Given the description of an element on the screen output the (x, y) to click on. 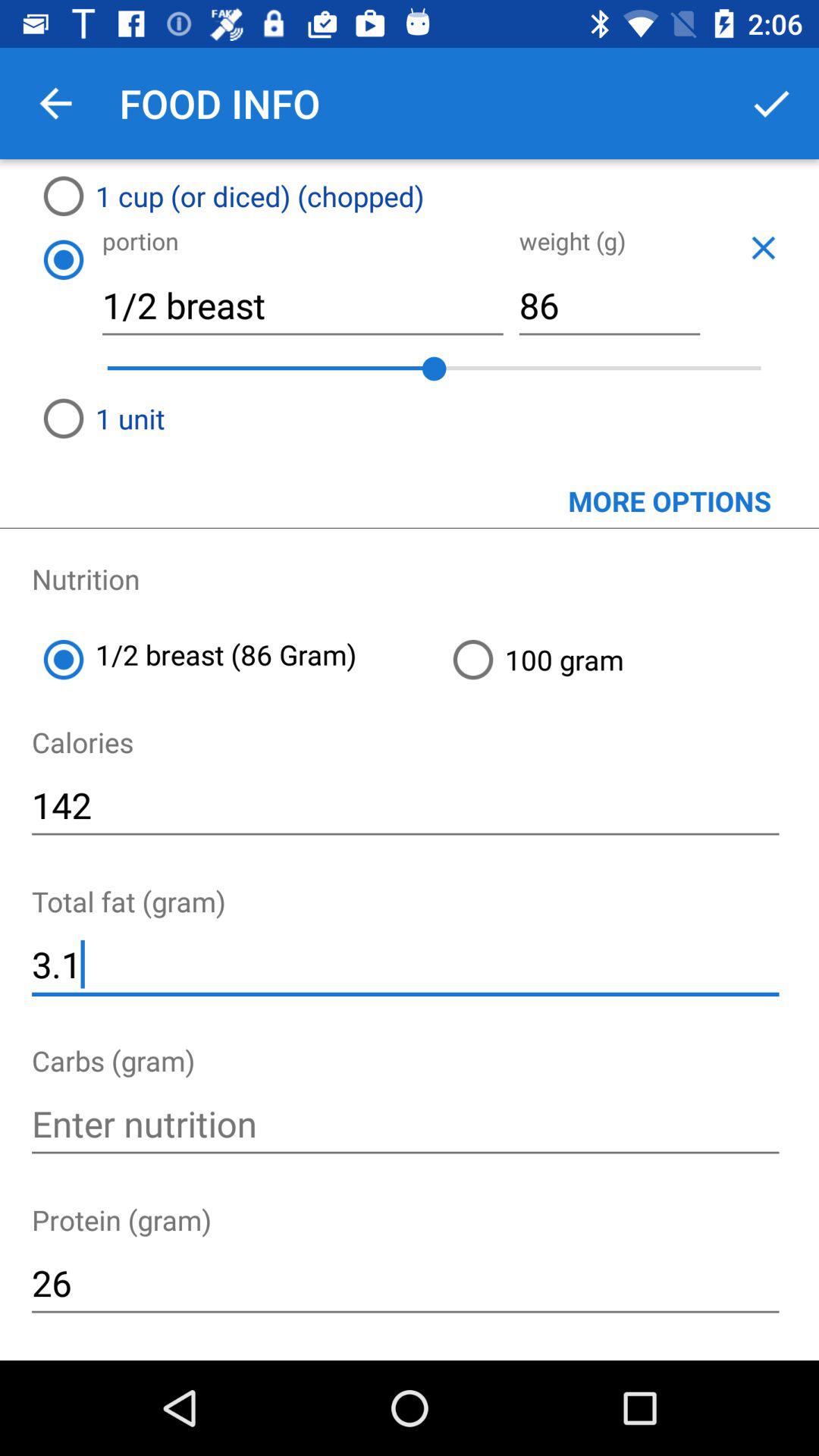
click icon to the left of 1/2 breast icon (62, 259)
